Given the description of an element on the screen output the (x, y) to click on. 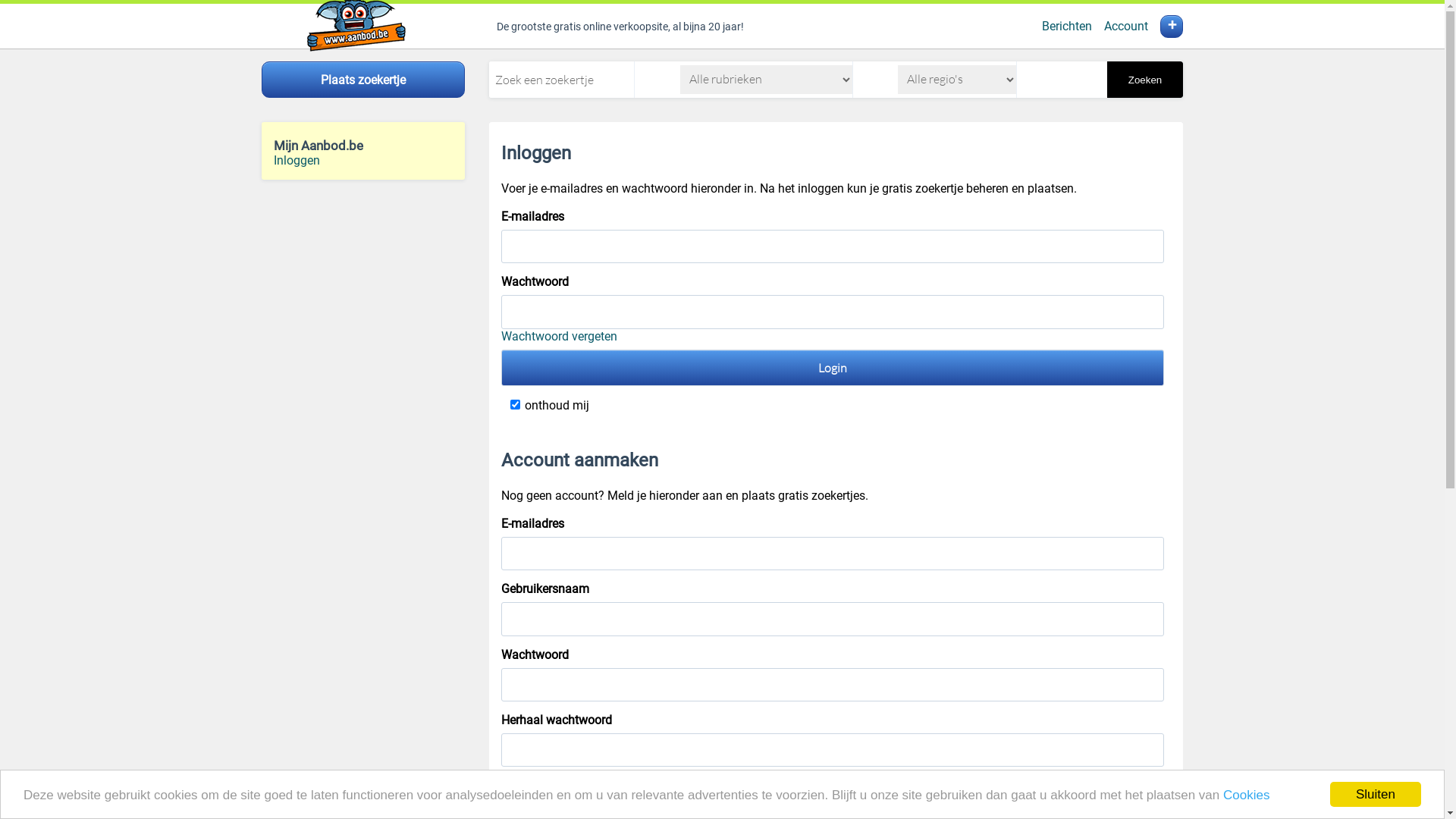
Plaats zoekertje Element type: text (362, 79)
Wachtwoord vergeten Element type: text (559, 336)
Zoeken Element type: text (1145, 79)
Sluiten Element type: text (1375, 793)
Berichten Element type: text (1066, 25)
Cookies Element type: text (1246, 794)
Inloggen Element type: text (296, 160)
Login Element type: text (832, 367)
Account Element type: text (1126, 25)
+ Element type: text (1171, 26)
